Given the description of an element on the screen output the (x, y) to click on. 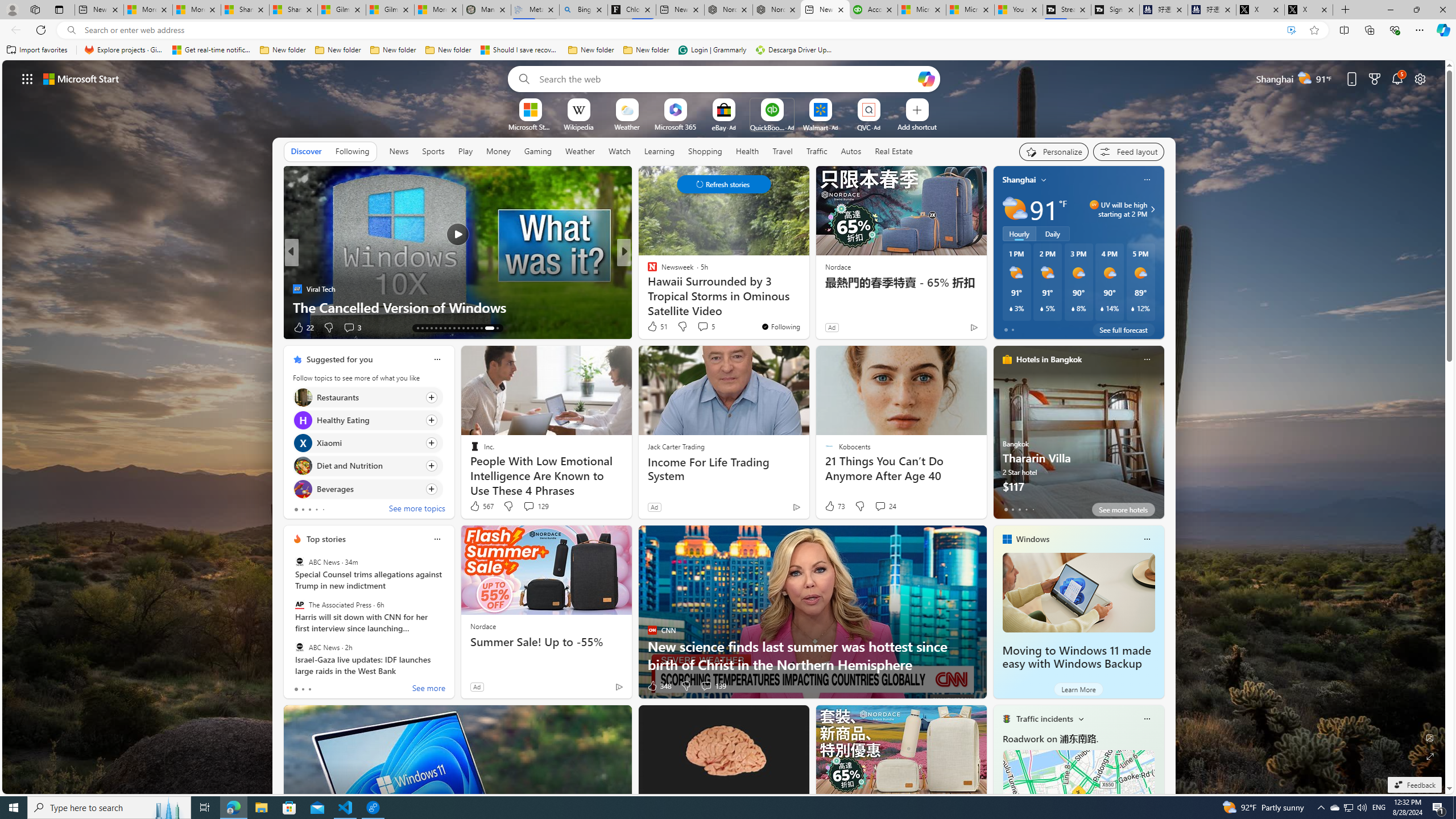
Click to follow topic Restaurants (367, 397)
See more topics (416, 509)
View comments 139 Comment (705, 685)
Page settings (1420, 78)
Expand background (1430, 756)
Microsoft start (81, 78)
